Given the description of an element on the screen output the (x, y) to click on. 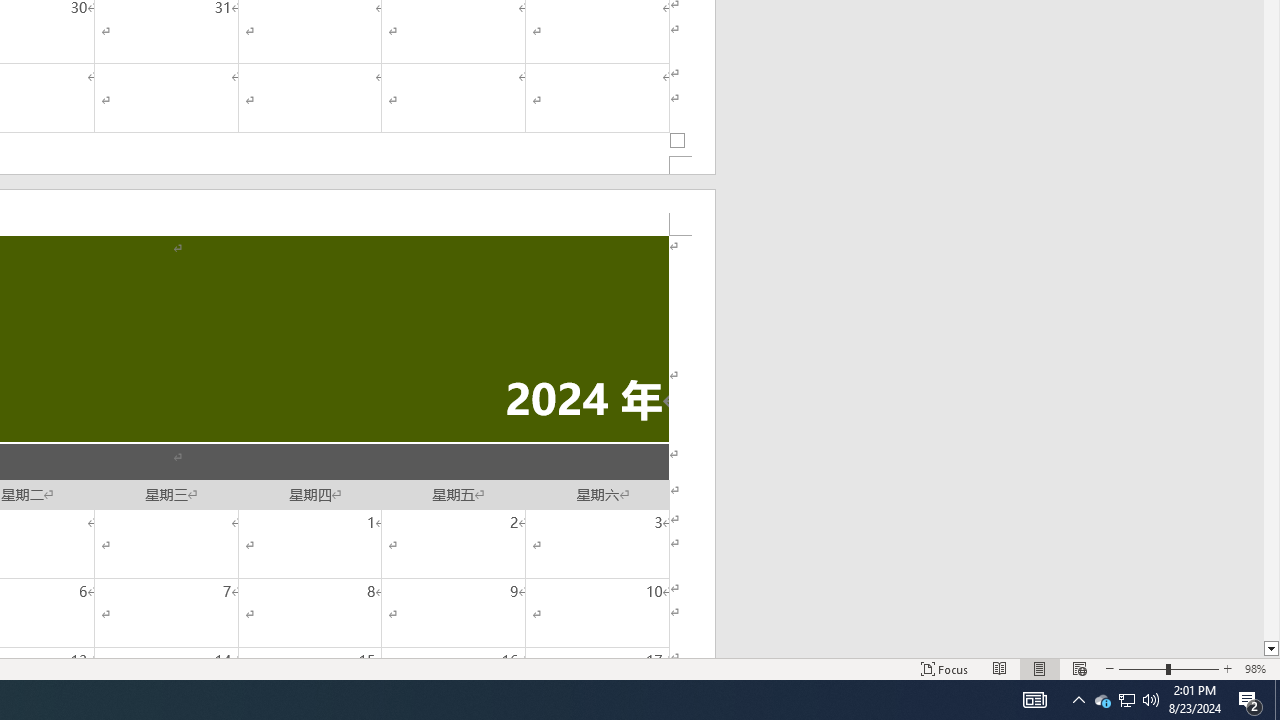
Line down (1271, 649)
